Given the description of an element on the screen output the (x, y) to click on. 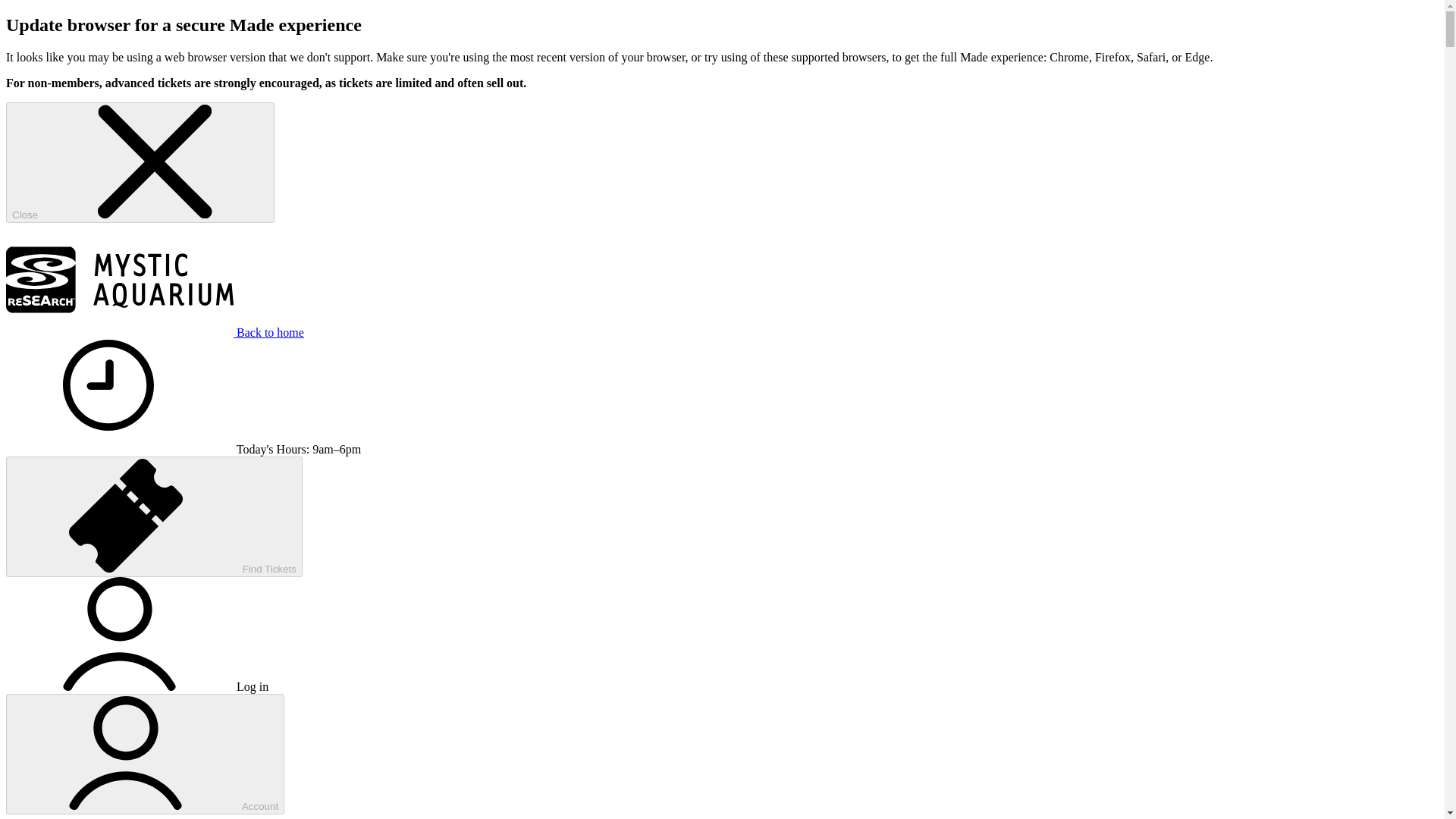
Find Tickets (153, 516)
Close (140, 162)
Account (144, 753)
Log in (136, 686)
Back to home (154, 332)
